Given the description of an element on the screen output the (x, y) to click on. 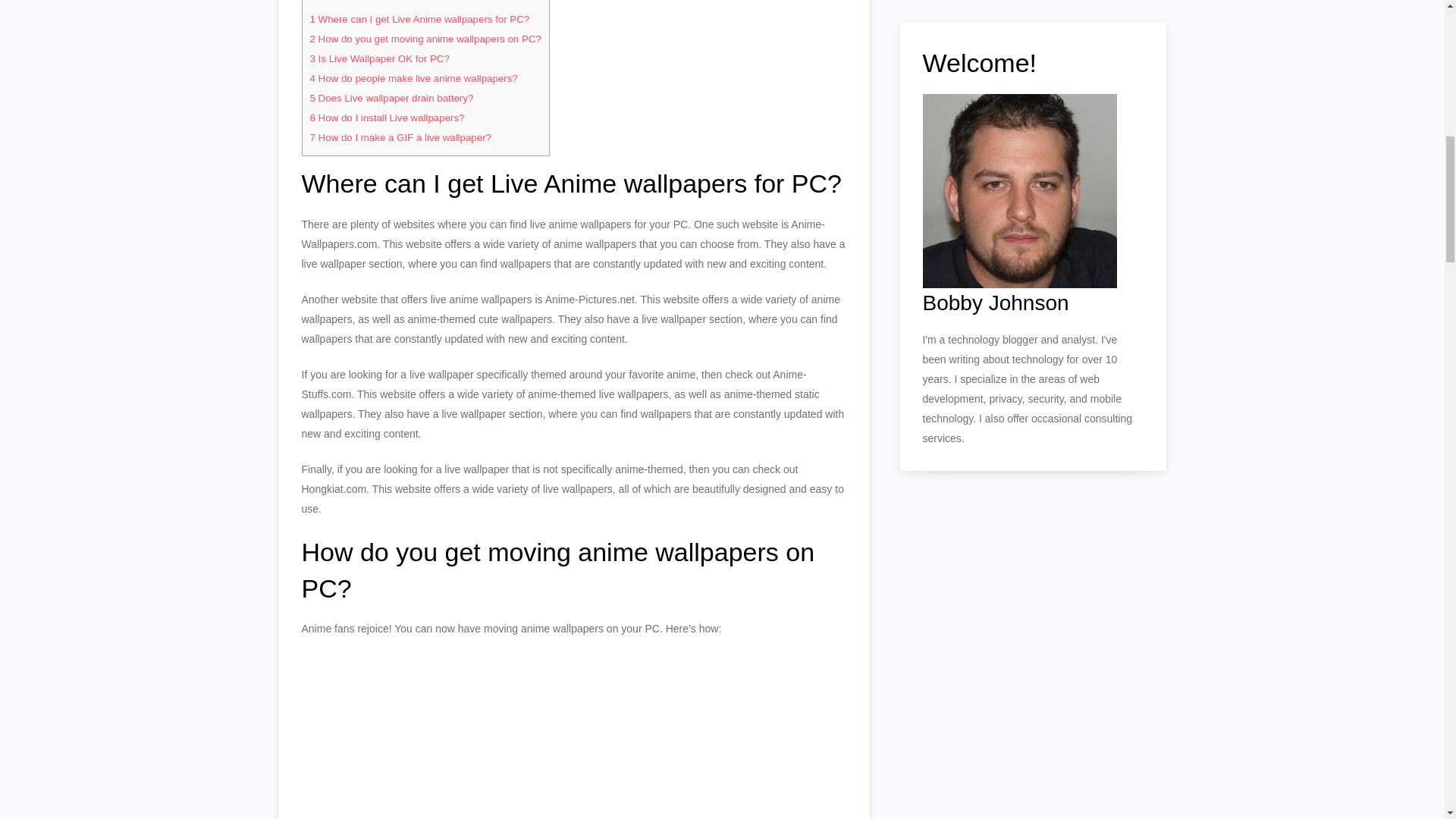
4 How do people make live anime wallpapers? (412, 78)
1 Where can I get Live Anime wallpapers for PC? (418, 19)
7 How do I make a GIF a live wallpaper? (399, 137)
5 Does Live wallpaper drain battery? (390, 98)
6 How do I install Live wallpapers? (386, 117)
3 Is Live Wallpaper OK for PC? (378, 58)
2 How do you get moving anime wallpapers on PC? (424, 39)
